Given the description of an element on the screen output the (x, y) to click on. 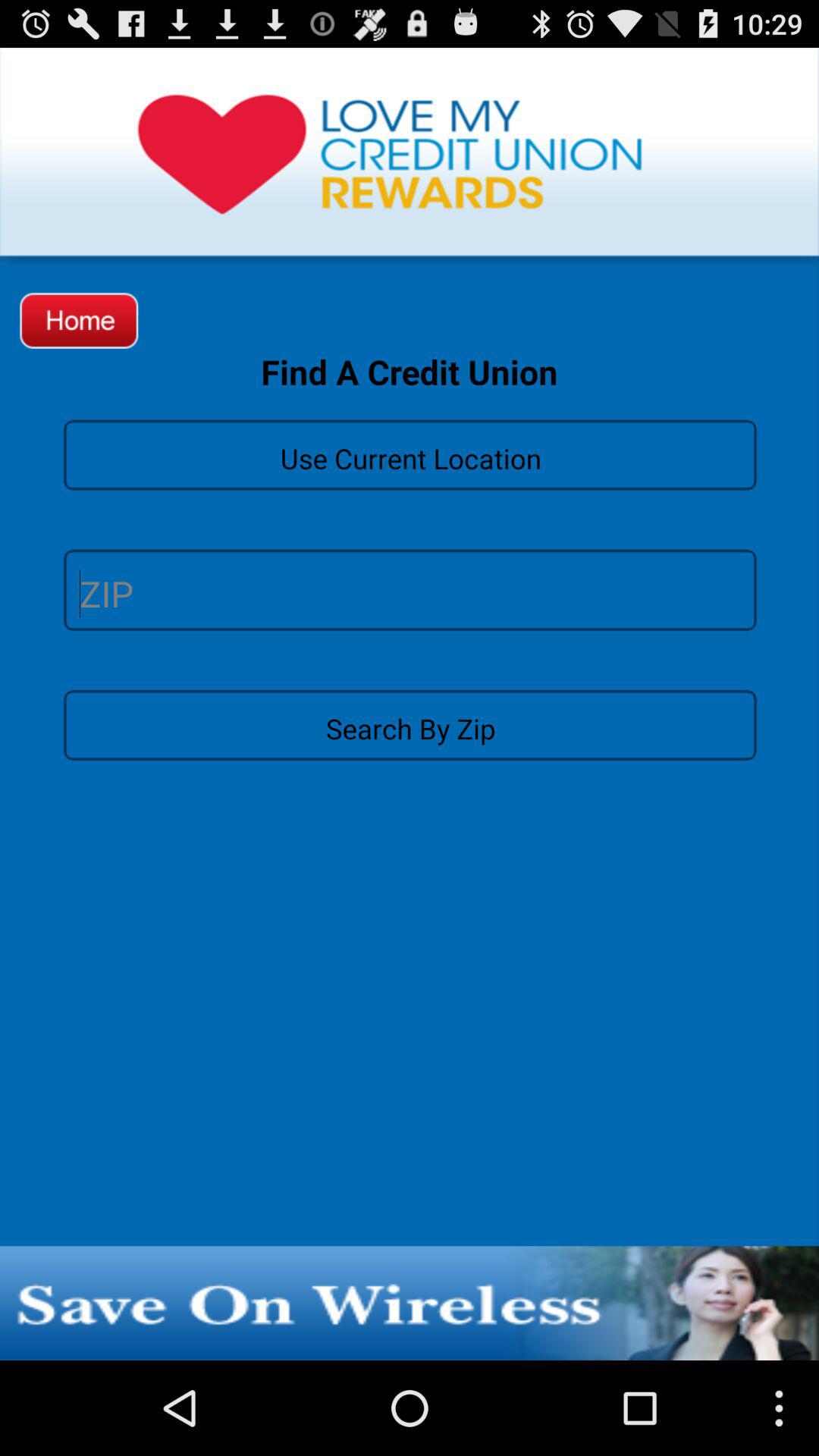
select button above the use current location item (78, 320)
